Given the description of an element on the screen output the (x, y) to click on. 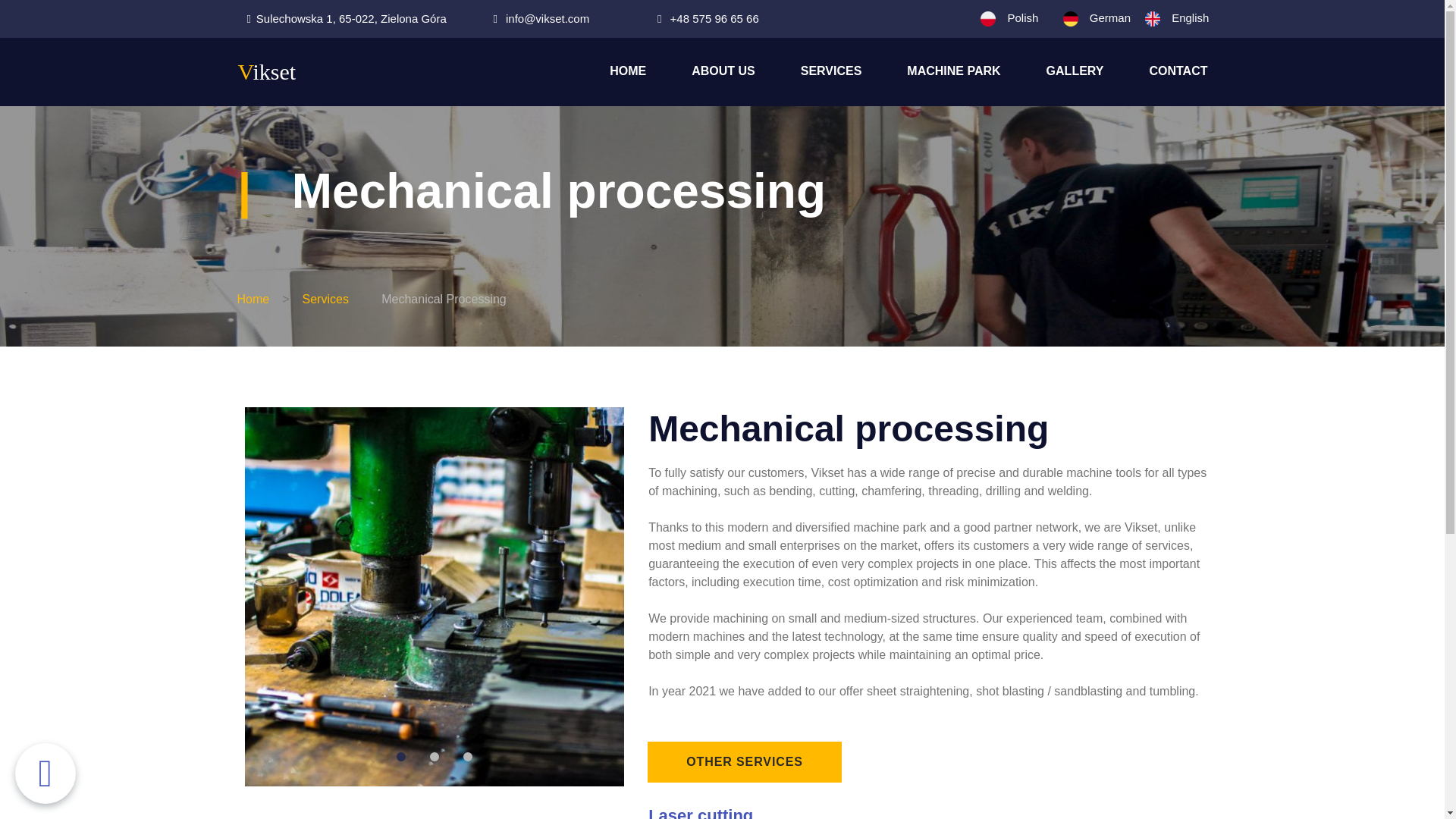
1 (401, 756)
CONTACT (1177, 72)
2 (434, 756)
Vikset (267, 71)
Home (252, 299)
3 (467, 756)
SERVICES (830, 72)
GALLERY (1074, 72)
Polish (1022, 17)
OTHER SERVICES (744, 762)
